Given the description of an element on the screen output the (x, y) to click on. 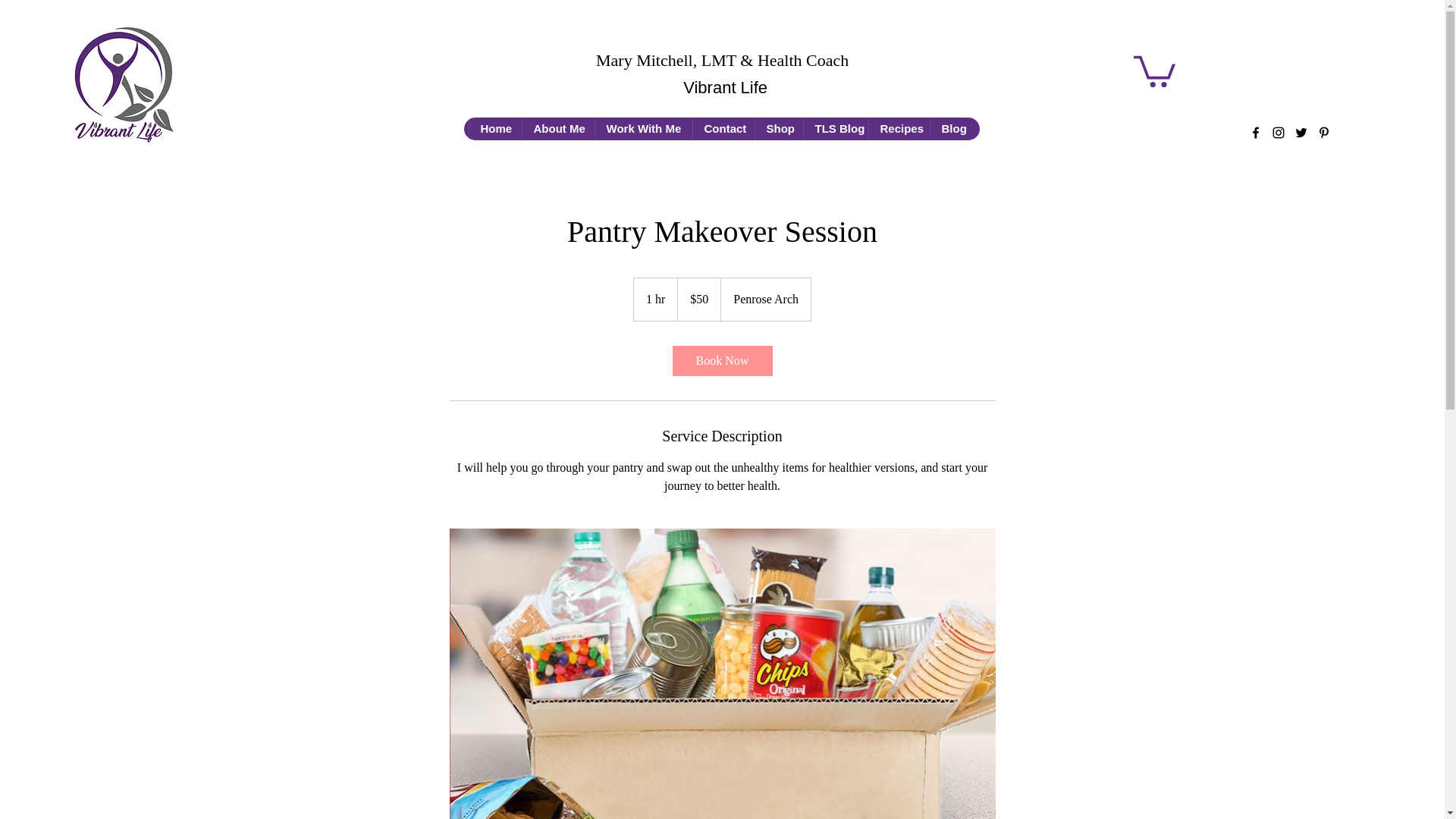
Shop (778, 128)
TLS Blog (834, 128)
Blog (952, 128)
Contact (722, 128)
Work With Me (643, 128)
About Me (557, 128)
Home (494, 128)
Book Now (721, 360)
Recipes (897, 128)
